Given the description of an element on the screen output the (x, y) to click on. 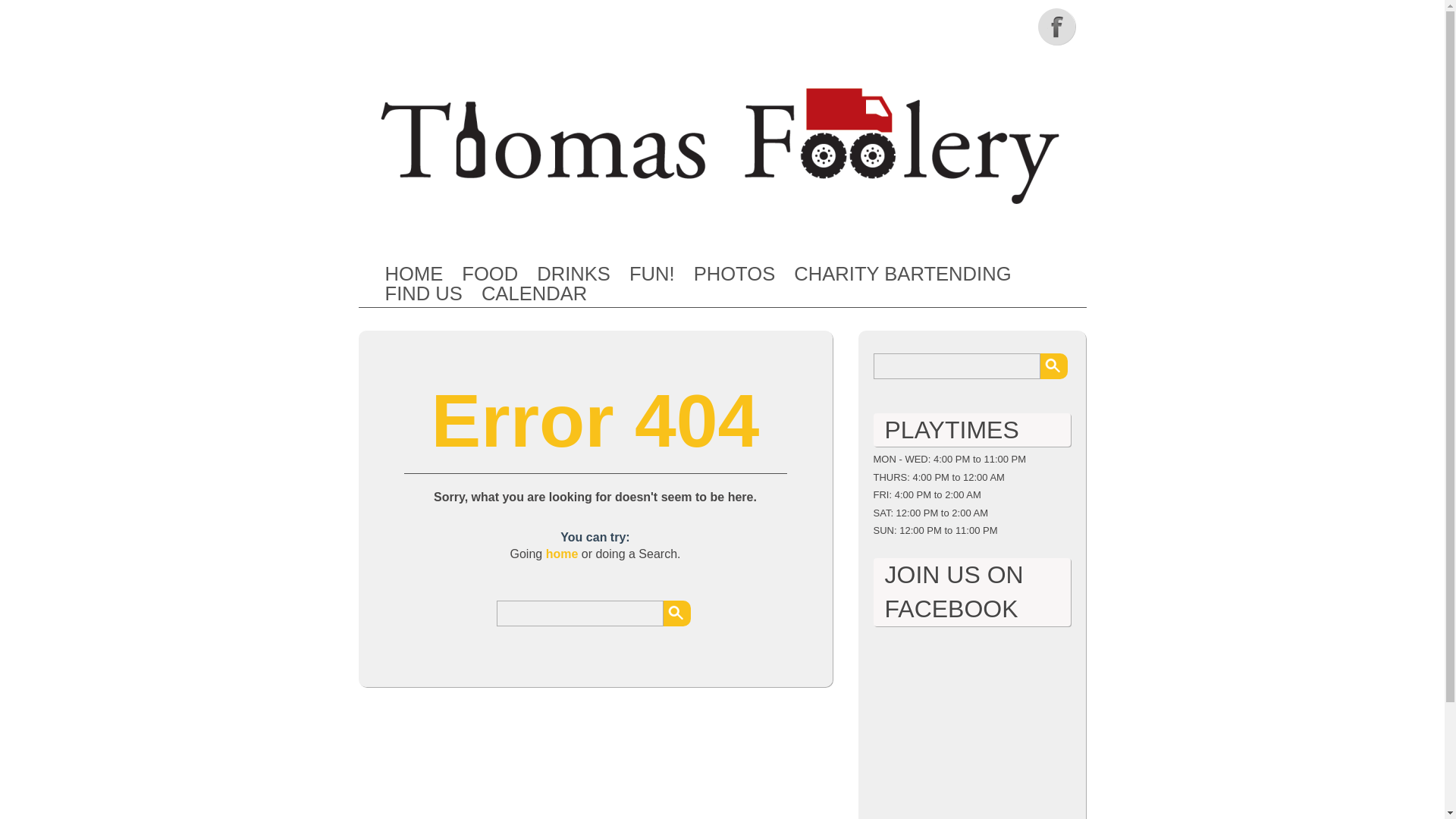
FUN! (651, 274)
Facebook (1057, 26)
Search (676, 613)
Search (1054, 365)
DRINKS (573, 274)
FOOD (489, 274)
HOME (414, 274)
Search (1054, 365)
Search (676, 613)
CHARITY BARTENDING (901, 274)
